Given the description of an element on the screen output the (x, y) to click on. 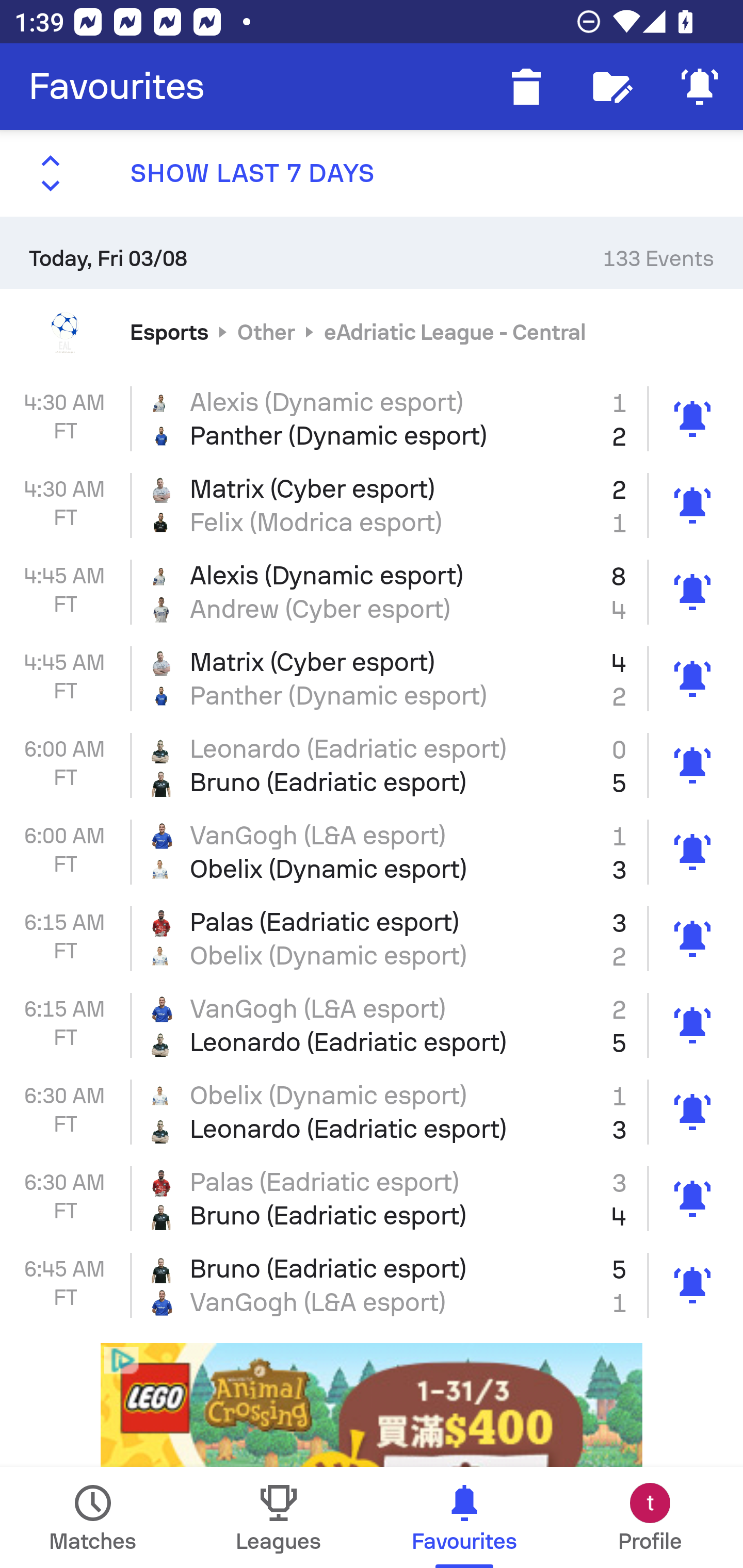
Favourites (116, 86)
Delete finished (525, 86)
Follow editor (612, 86)
Mute Notifications (699, 86)
SHOW LAST 7 DAYS (371, 173)
Today, Fri 03/08 133 Events (371, 252)
Esports Other eAdriatic League - Central (371, 331)
j1n8f1jr_300x250 (371, 1405)
Matches (92, 1517)
Leagues (278, 1517)
Profile (650, 1517)
